Given the description of an element on the screen output the (x, y) to click on. 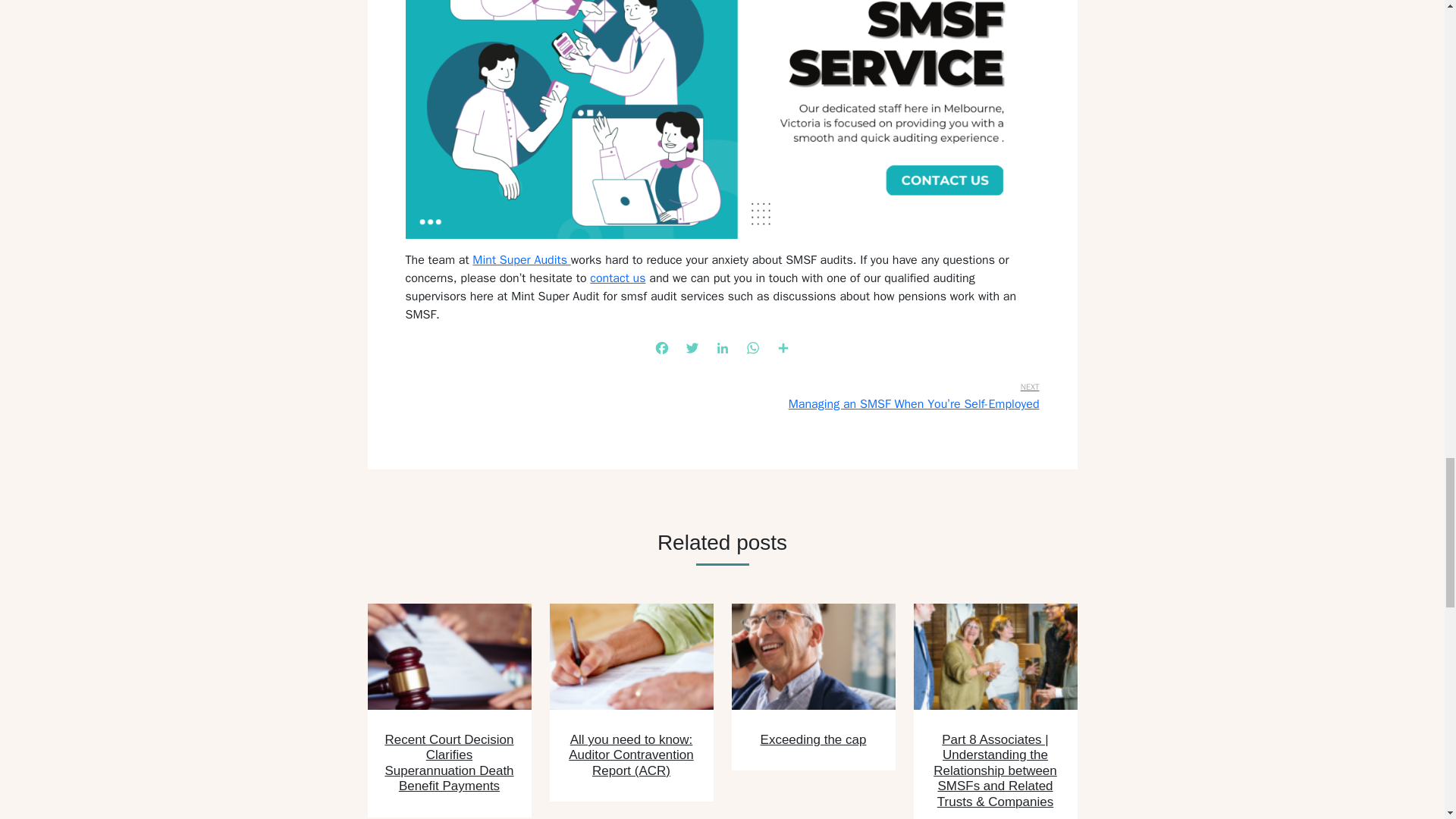
Facebook (661, 349)
LinkedIn (721, 349)
Mint Super Audits (520, 259)
contact us (617, 278)
Twitter (691, 349)
Twitter (691, 349)
Exceeding the cap (813, 739)
WhatsApp (751, 349)
LinkedIn (721, 349)
WhatsApp (751, 349)
Facebook (661, 349)
